Given the description of an element on the screen output the (x, y) to click on. 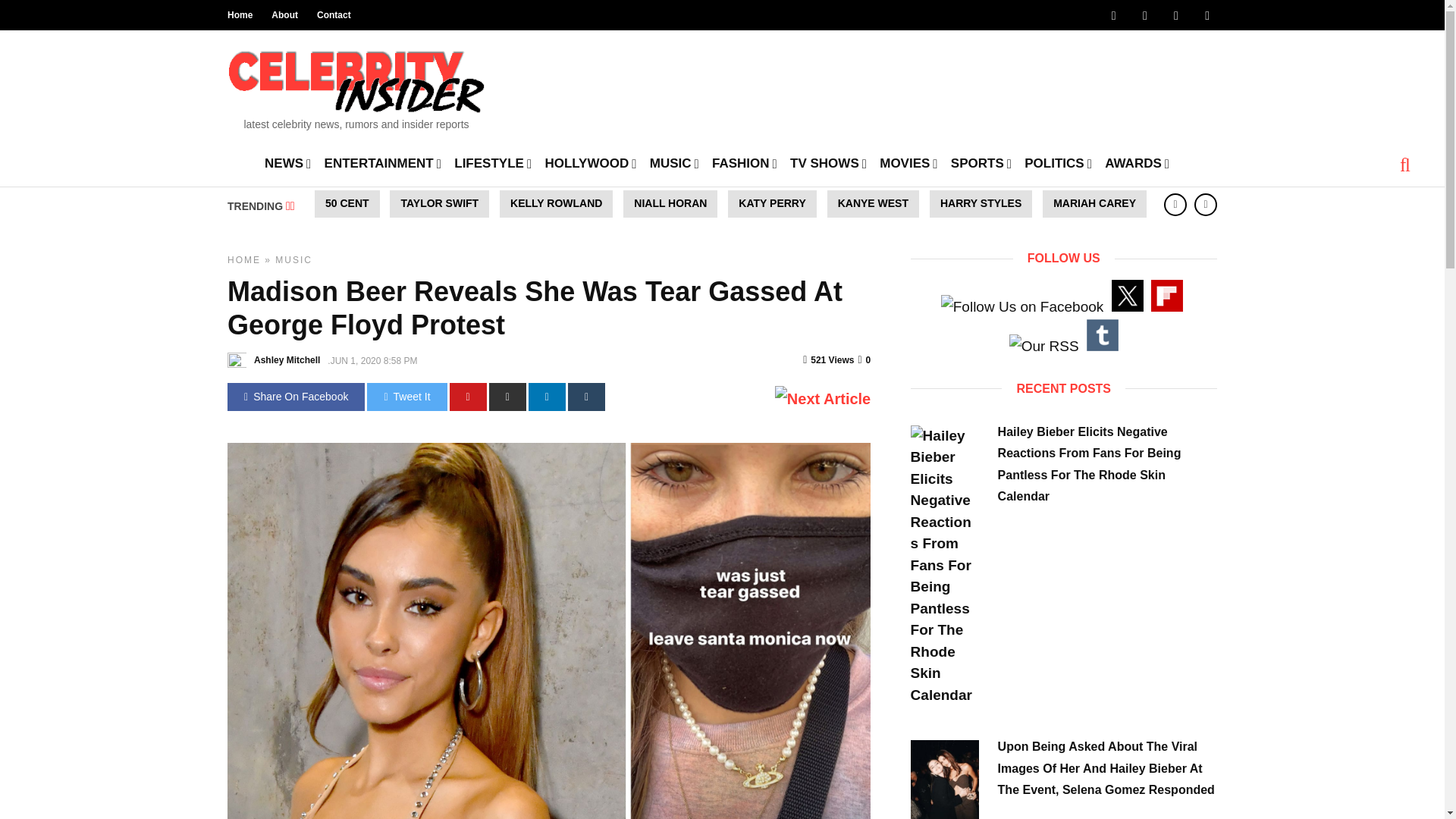
SPORTS (981, 162)
KELLY ROWLAND (555, 203)
50 CENT (347, 203)
Contact (333, 14)
AWARDS (1136, 162)
HOLLYWOOD (590, 162)
TAYLOR SWIFT (439, 203)
NEWS (287, 162)
Share On Linkedin (547, 397)
TV SHOWS (828, 162)
LIFESTYLE (492, 162)
About (284, 14)
NIALL HORAN (670, 203)
Share On Pinterest (467, 397)
Share On Reddit (507, 397)
